Given the description of an element on the screen output the (x, y) to click on. 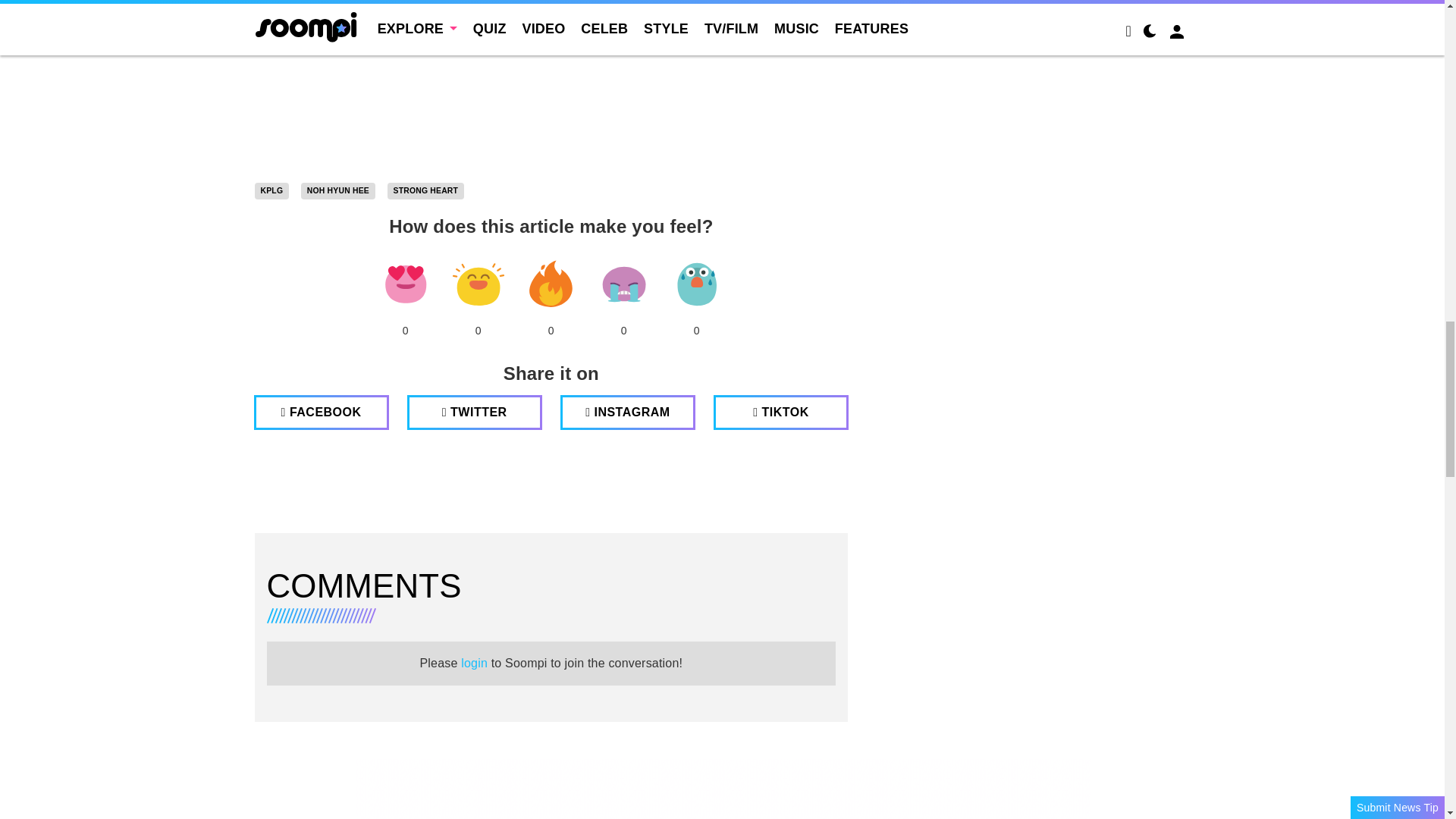
KPLG (271, 190)
Noh Hyun Hee (338, 190)
STRONG HEART (425, 190)
Fire (550, 283)
OMG (696, 283)
FACEBOOK (320, 411)
3rd party ad content (722, 788)
Crying (623, 283)
lol (478, 283)
LOL (478, 283)
omg (696, 283)
Strong Heart (425, 190)
Heart (405, 283)
NOH HYUN HEE (338, 190)
noh hyun hee inside (551, 84)
